Given the description of an element on the screen output the (x, y) to click on. 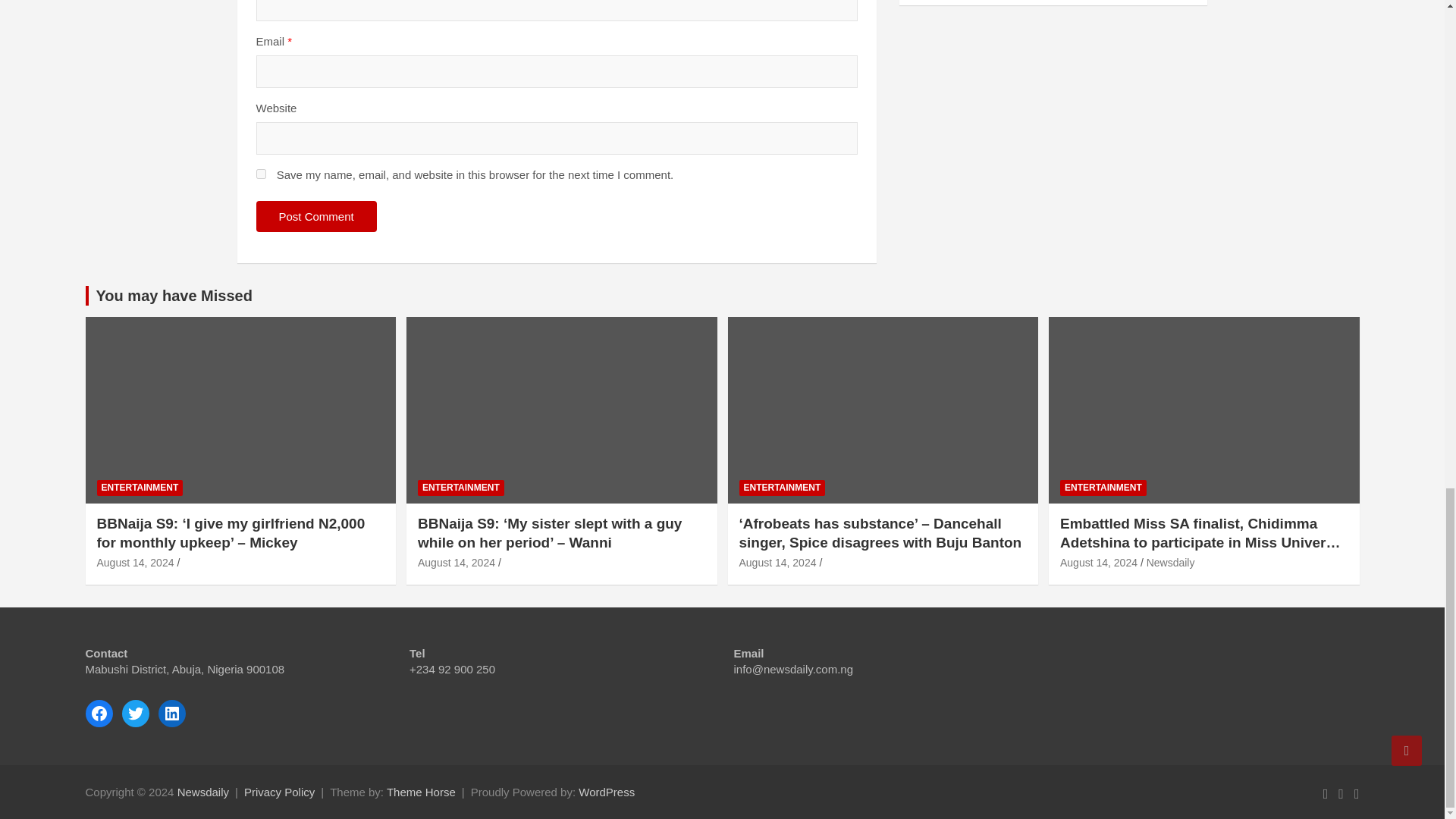
Newsdaily (202, 791)
Post Comment (316, 215)
Post Comment (316, 215)
Theme Horse (421, 791)
yes (261, 173)
WordPress (606, 791)
